Given the description of an element on the screen output the (x, y) to click on. 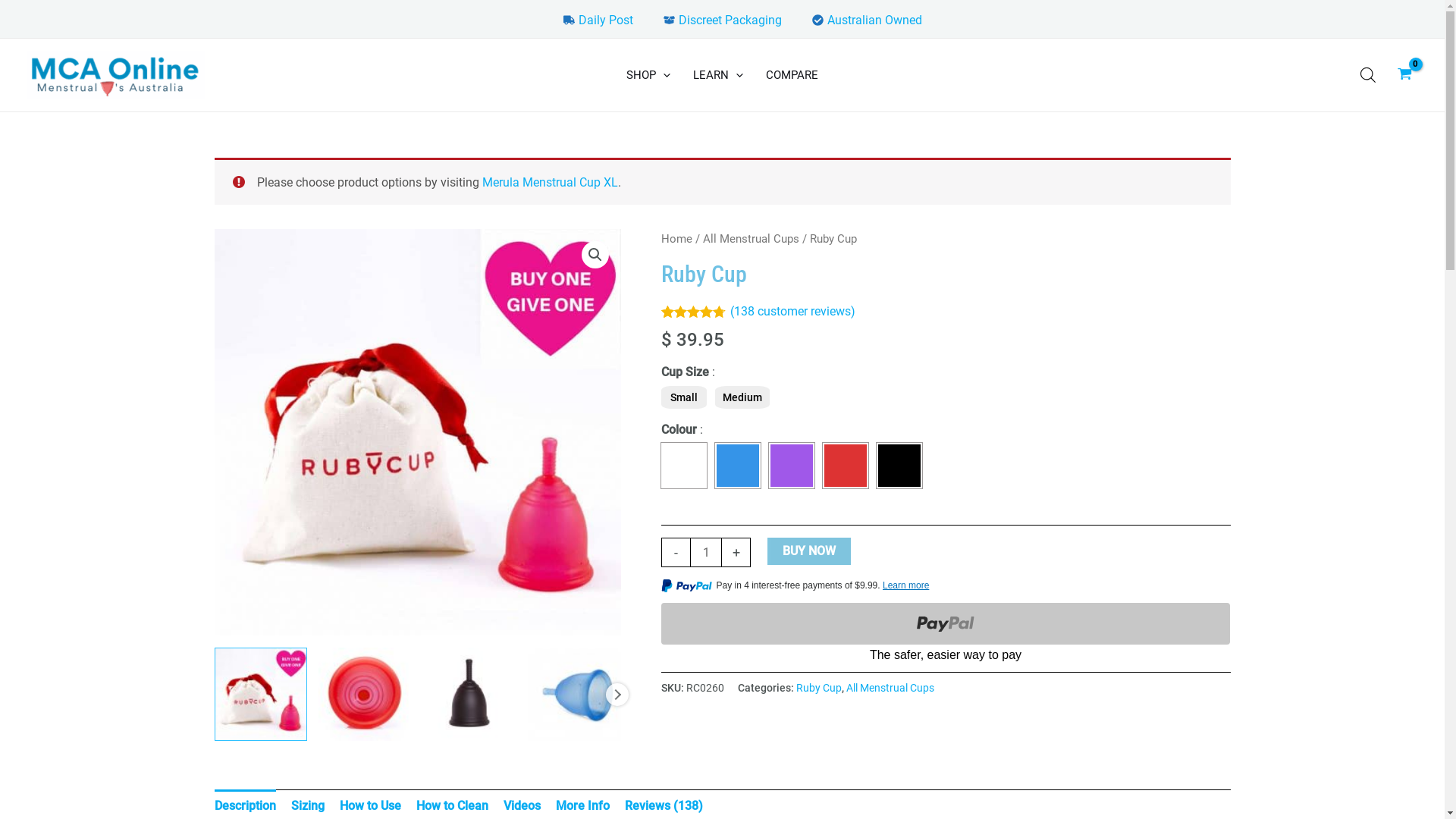
Purple Element type: hover (791, 465)
BUY NOW Element type: text (808, 550)
+ Element type: text (735, 552)
Daily Post Element type: text (597, 19)
Australian Owned Element type: text (866, 19)
Merula Menstrual Cup XL Element type: text (550, 182)
Discreet Packaging Element type: text (721, 19)
- Element type: text (675, 552)
Next Element type: text (616, 694)
PayPal Message 1 Element type: hover (945, 587)
PayPal Element type: hover (945, 633)
Clear Element type: hover (683, 465)
Black Element type: hover (899, 465)
Red Element type: hover (845, 465)
Ruby Cup Element type: text (818, 687)
All Menstrual Cups Element type: text (750, 238)
Blue Element type: hover (737, 465)
LEARN Element type: text (717, 74)
Home Element type: text (676, 238)
(138 customer reviews) Element type: text (791, 311)
COMPARE Element type: text (791, 74)
Ruby Cup Australia Element type: hover (416, 432)
SHOP Element type: text (648, 74)
All Menstrual Cups Element type: text (890, 687)
